Given the description of an element on the screen output the (x, y) to click on. 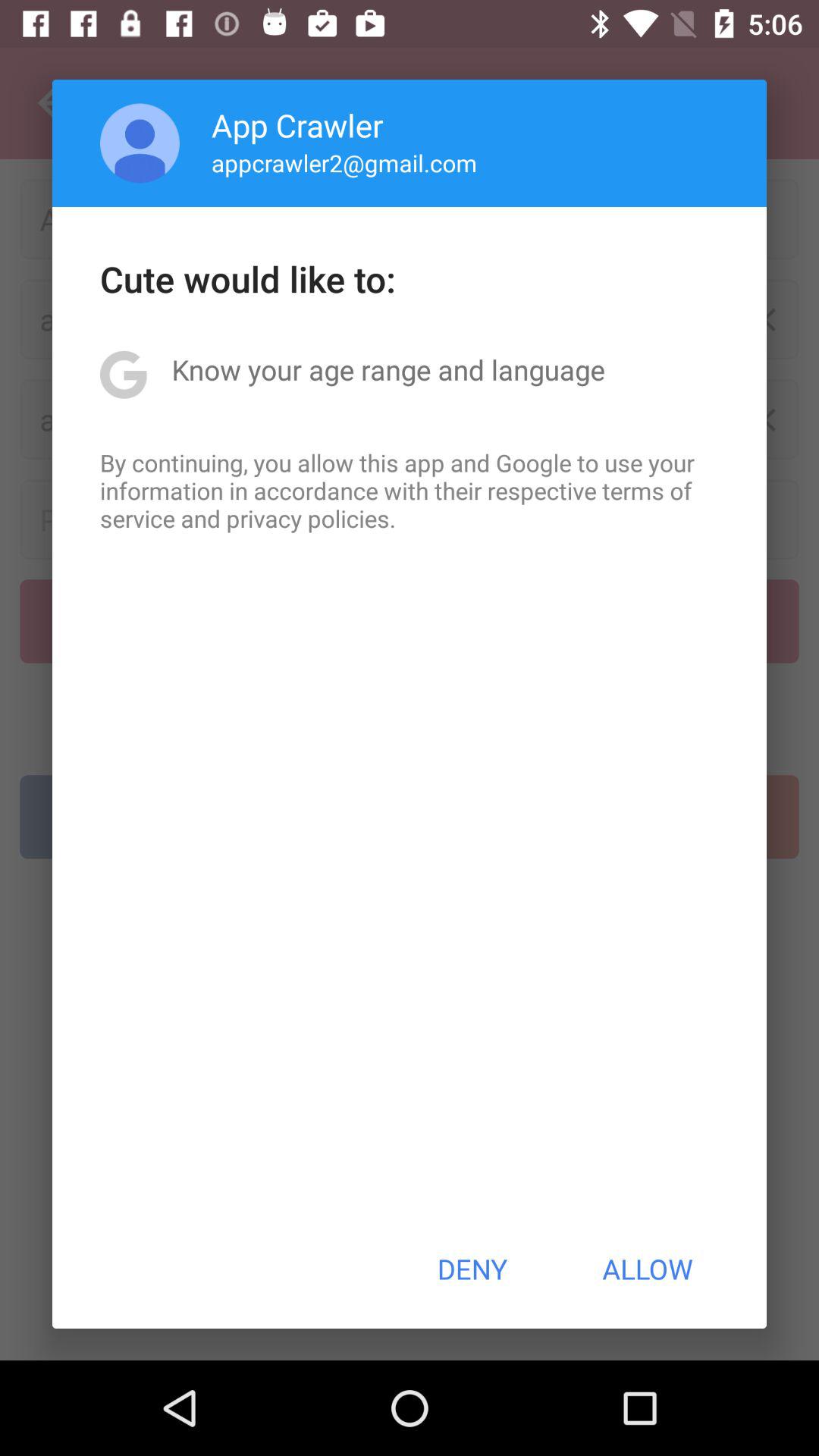
turn off the app below the cute would like item (388, 369)
